Given the description of an element on the screen output the (x, y) to click on. 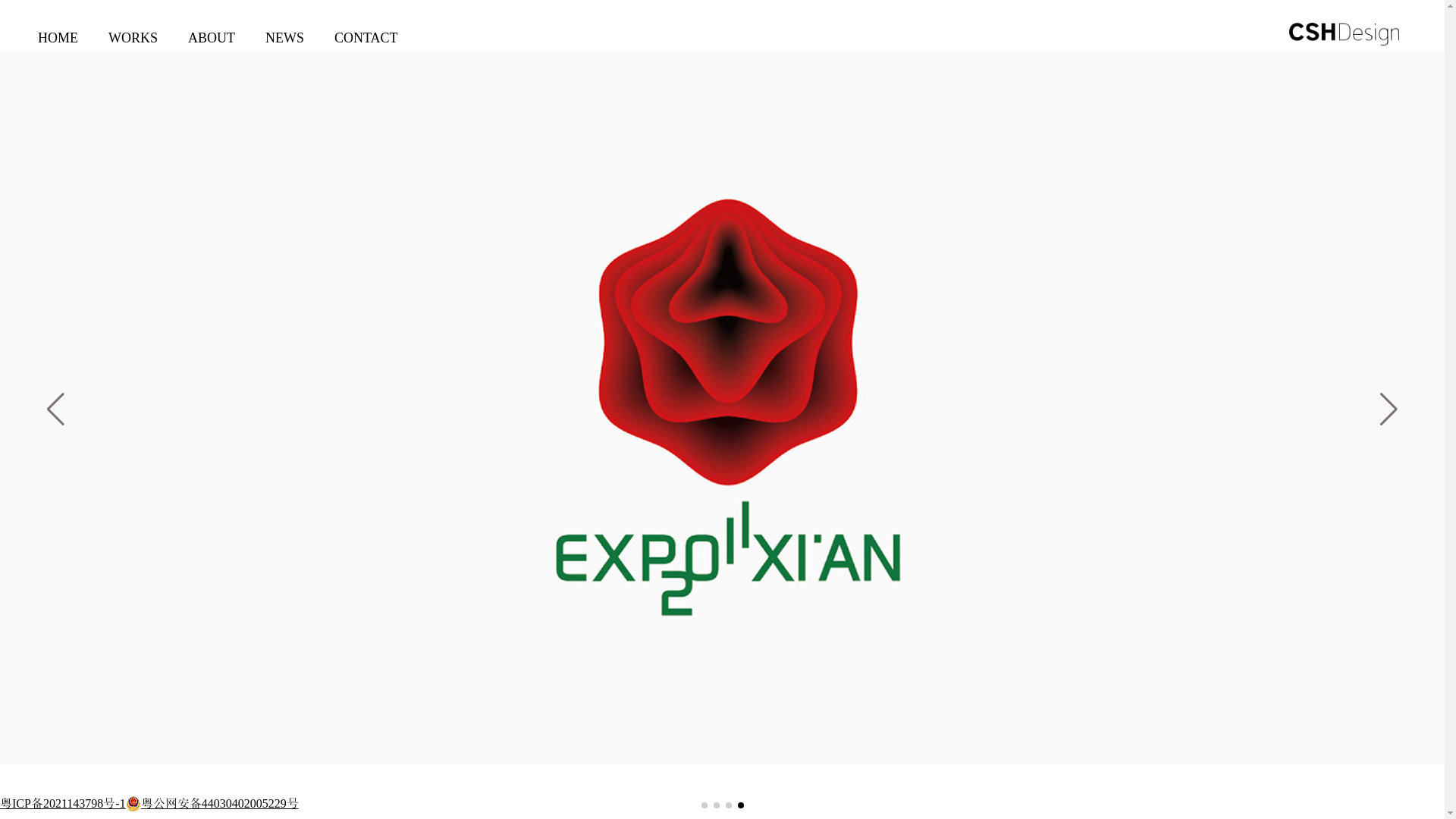
CONTACT Element type: text (366, 49)
WORKS Element type: text (132, 49)
HOME Element type: text (57, 49)
ABOUT Element type: text (211, 49)
NEWS Element type: text (284, 49)
